Given the description of an element on the screen output the (x, y) to click on. 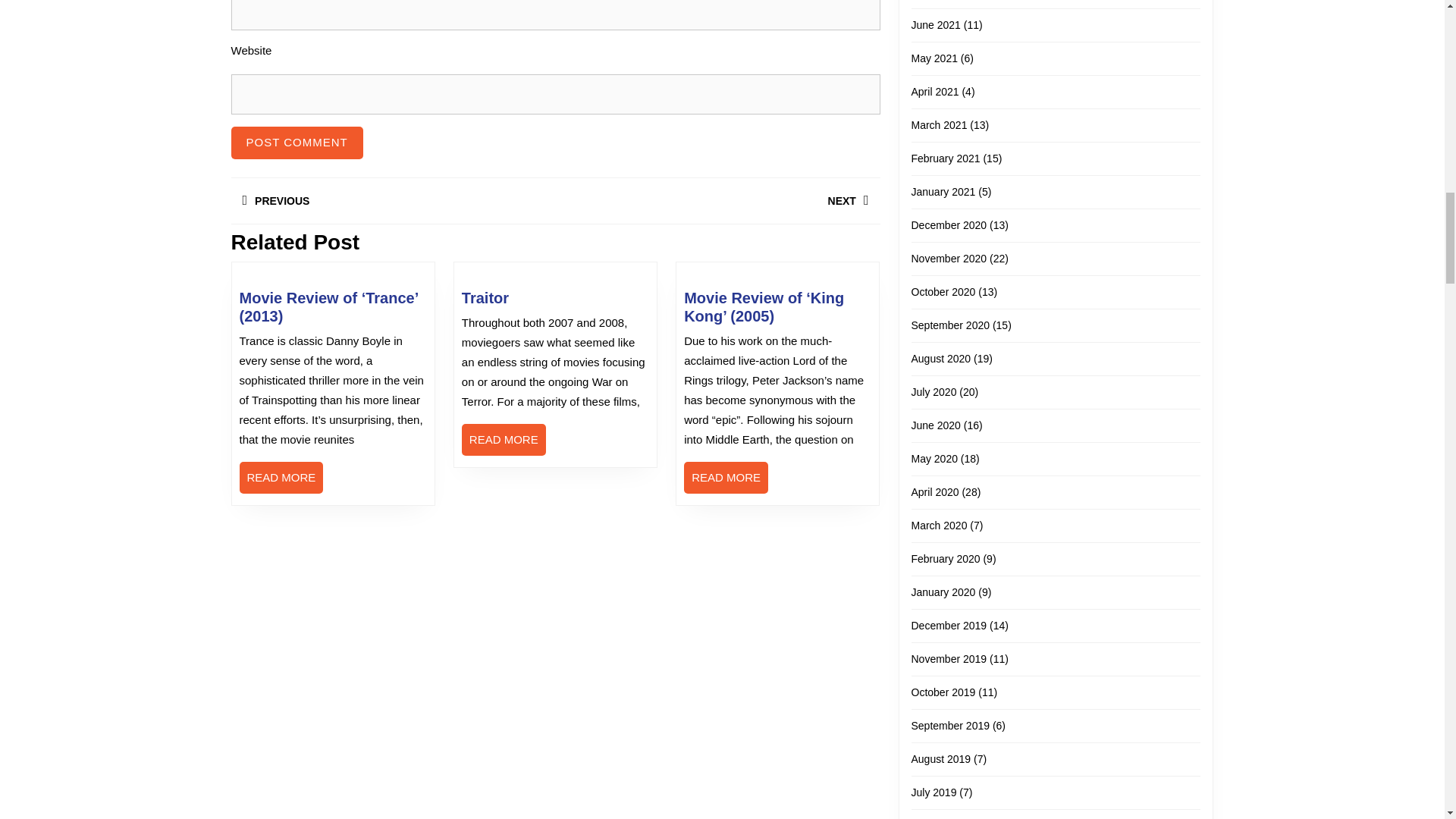
Post Comment (296, 142)
Post Comment (726, 477)
